Given the description of an element on the screen output the (x, y) to click on. 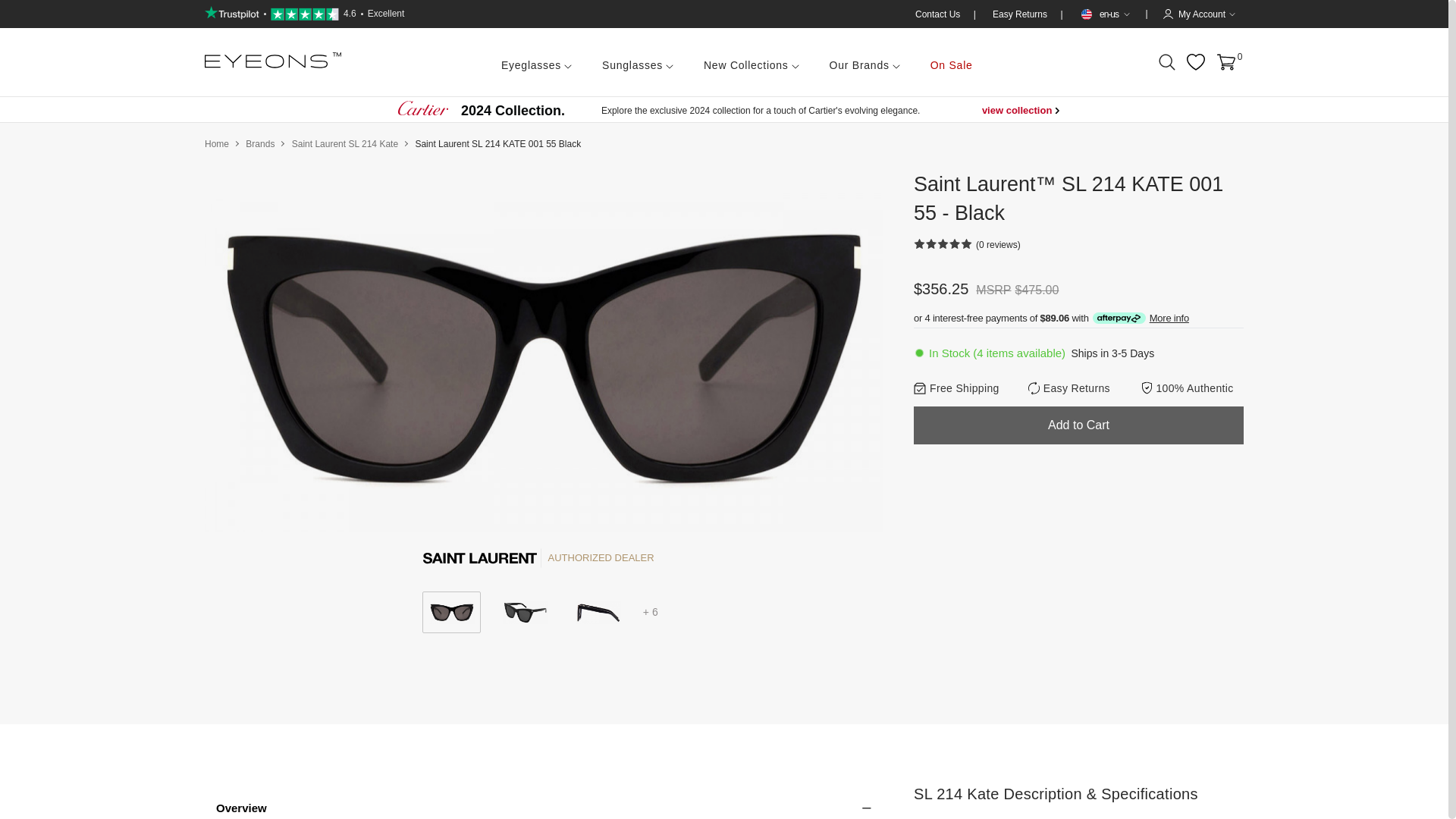
Easy Returns (1020, 14)
Our Brands (864, 61)
Brands (260, 143)
Home (216, 143)
Saint Laurent Authorized Dealer (480, 558)
AUTHORIZED DEALER (304, 13)
Easy Returns (544, 558)
Contact Us (1078, 387)
Free Shipping (938, 14)
